Given the description of an element on the screen output the (x, y) to click on. 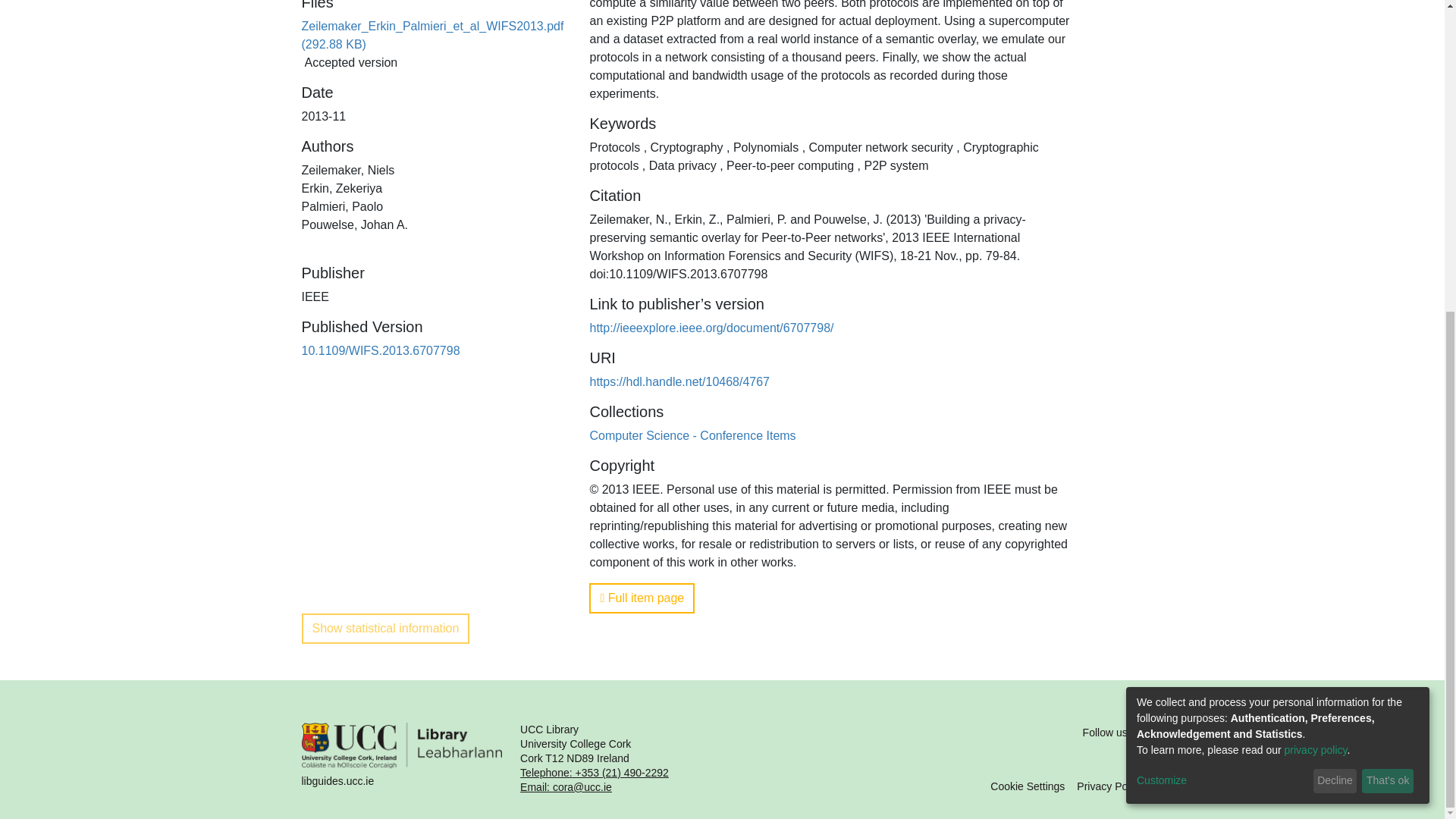
Privacy Policy (1109, 786)
Show statistical information (385, 628)
libguides.ucc.ie (401, 758)
privacy policy (1316, 254)
Cookie Settings (1027, 786)
That's ok (1387, 284)
Customize (1222, 284)
Computer Science - Conference Items (691, 435)
Full item page (641, 598)
Decline (1334, 284)
